Given the description of an element on the screen output the (x, y) to click on. 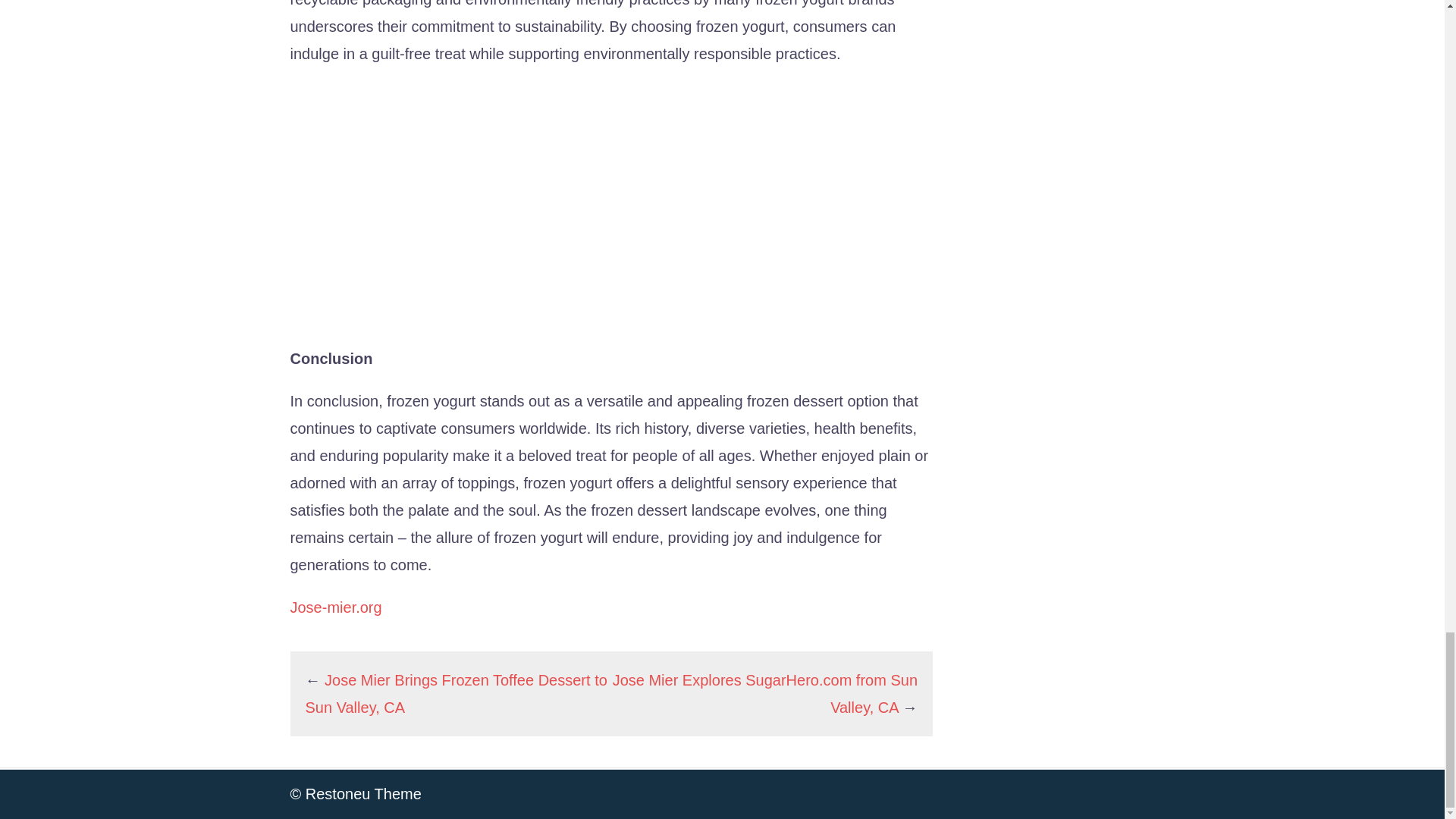
Jose Mier Brings Frozen Toffee Dessert to Sun Valley, CA (455, 693)
YouTube video player (501, 201)
Jose Mier Explores SugarHero.com from Sun Valley, CA (764, 693)
Jose-mier.org (335, 606)
